Given the description of an element on the screen output the (x, y) to click on. 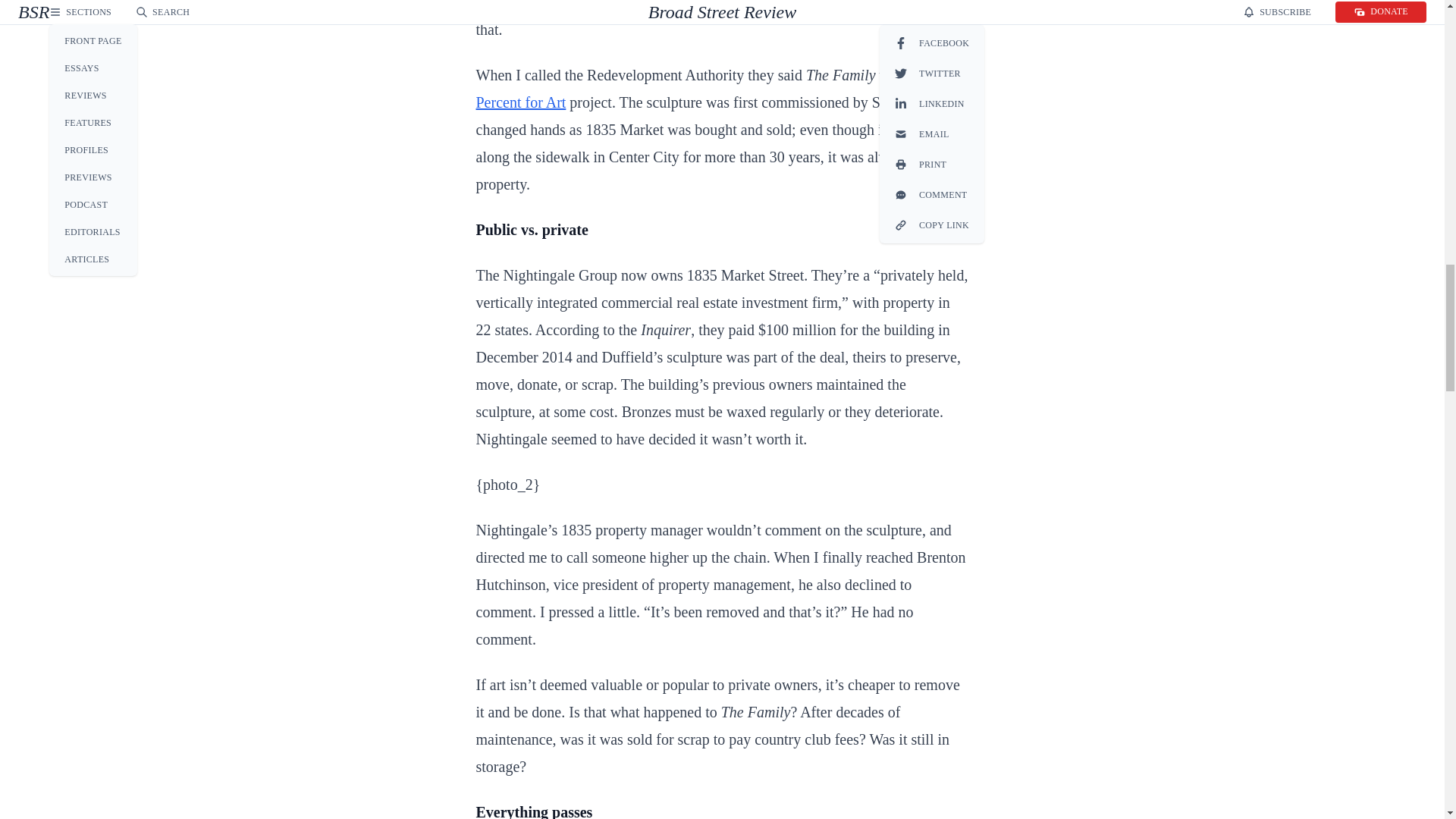
Percent for Art (521, 102)
